Given the description of an element on the screen output the (x, y) to click on. 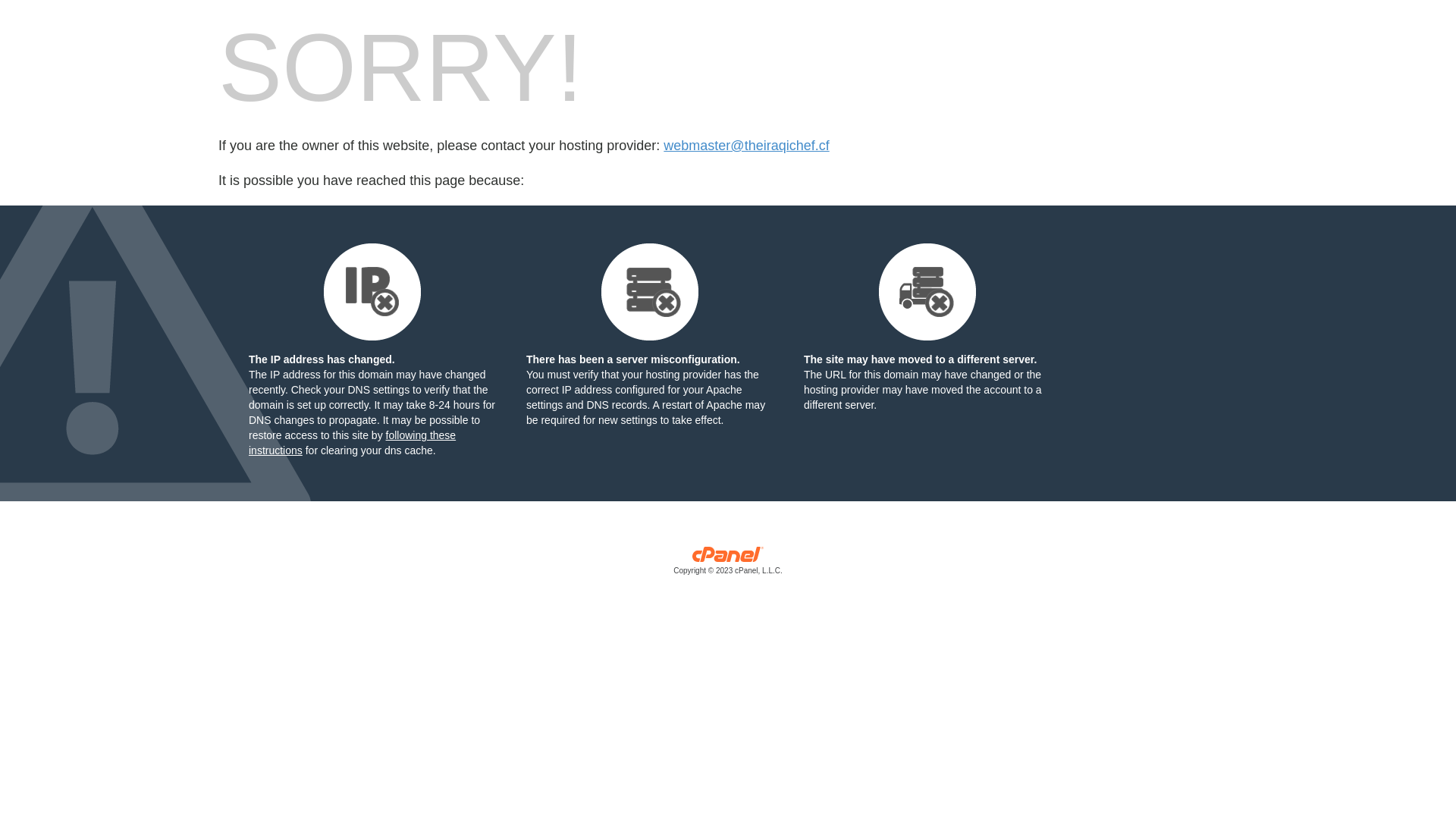
webmaster@theiraqichef.cf Element type: text (745, 145)
following these instructions Element type: text (351, 442)
